Given the description of an element on the screen output the (x, y) to click on. 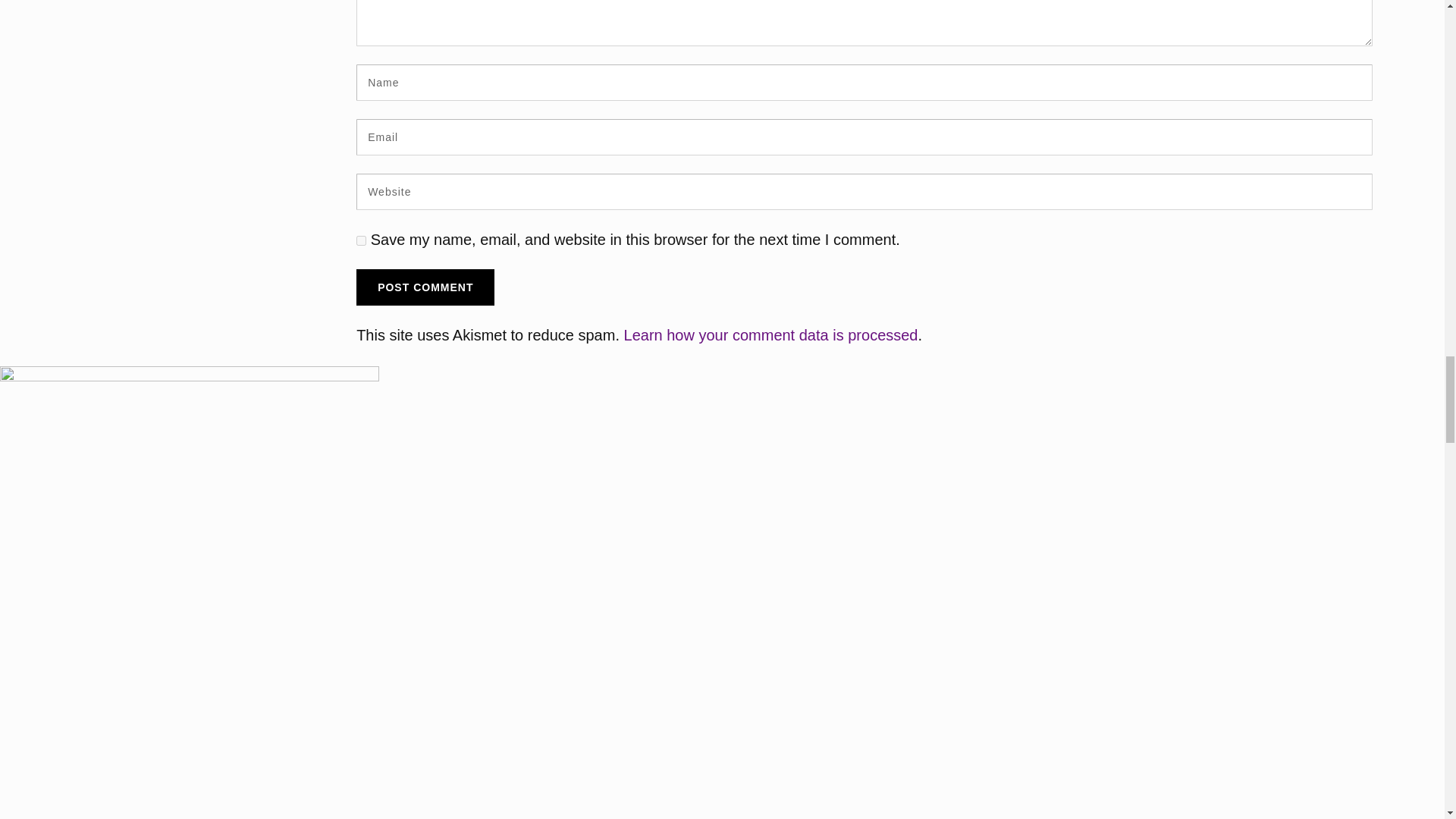
yes (361, 240)
Post Comment (425, 287)
